Given the description of an element on the screen output the (x, y) to click on. 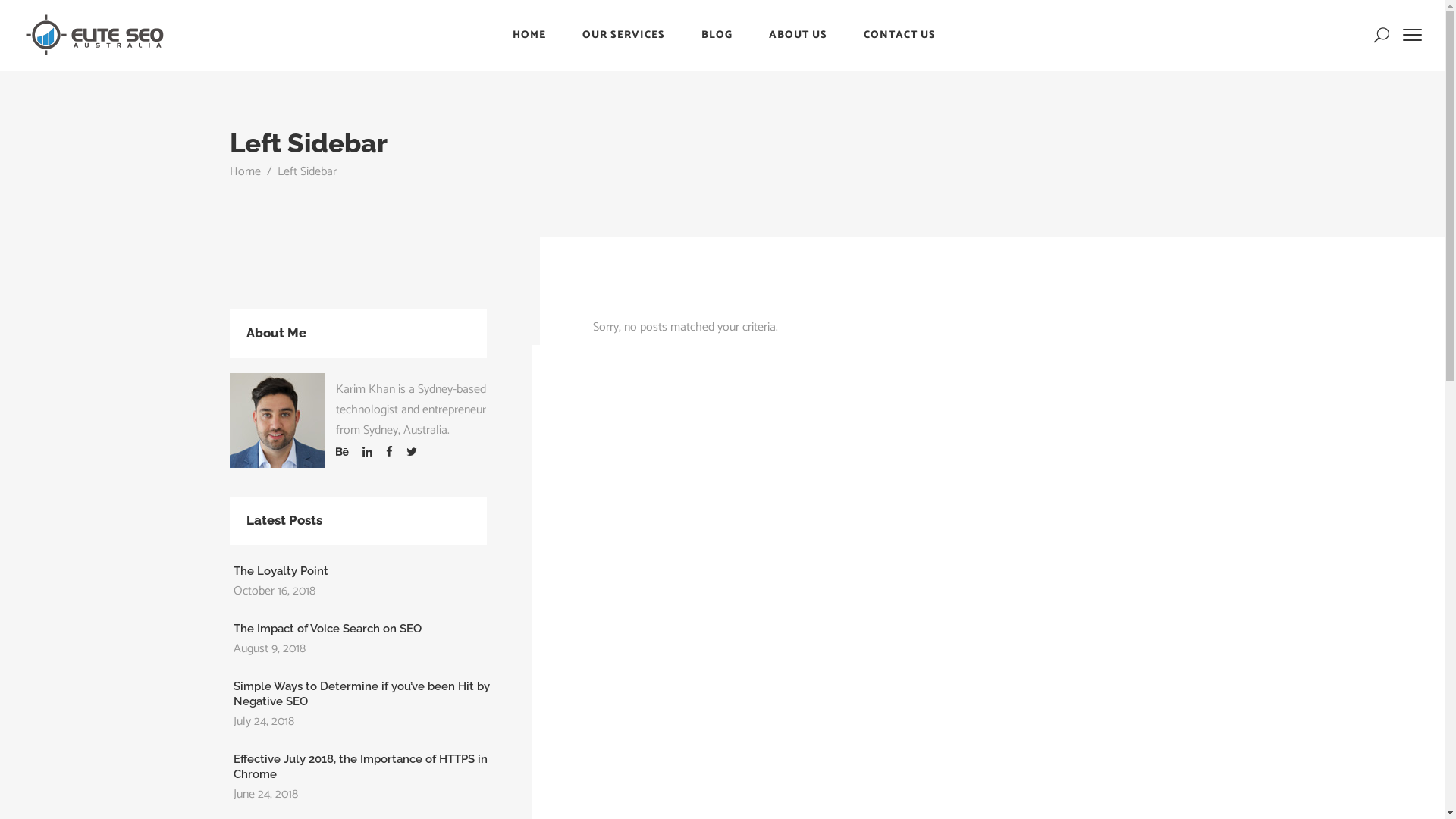
The Loyalty Point Element type: text (280, 570)
August 9, 2018 Element type: text (269, 648)
HOME Element type: text (529, 35)
Home Element type: text (244, 171)
OUR SERVICES Element type: text (623, 35)
Effective July 2018, the Importance of HTTPS in Chrome Element type: text (360, 766)
BLOG Element type: text (715, 35)
July 24, 2018 Element type: text (263, 721)
The Impact of Voice Search on SEO Element type: text (327, 628)
ABOUT US Element type: text (797, 35)
CONTACT US Element type: text (898, 35)
October 16, 2018 Element type: text (274, 590)
June 24, 2018 Element type: text (265, 794)
